Given the description of an element on the screen output the (x, y) to click on. 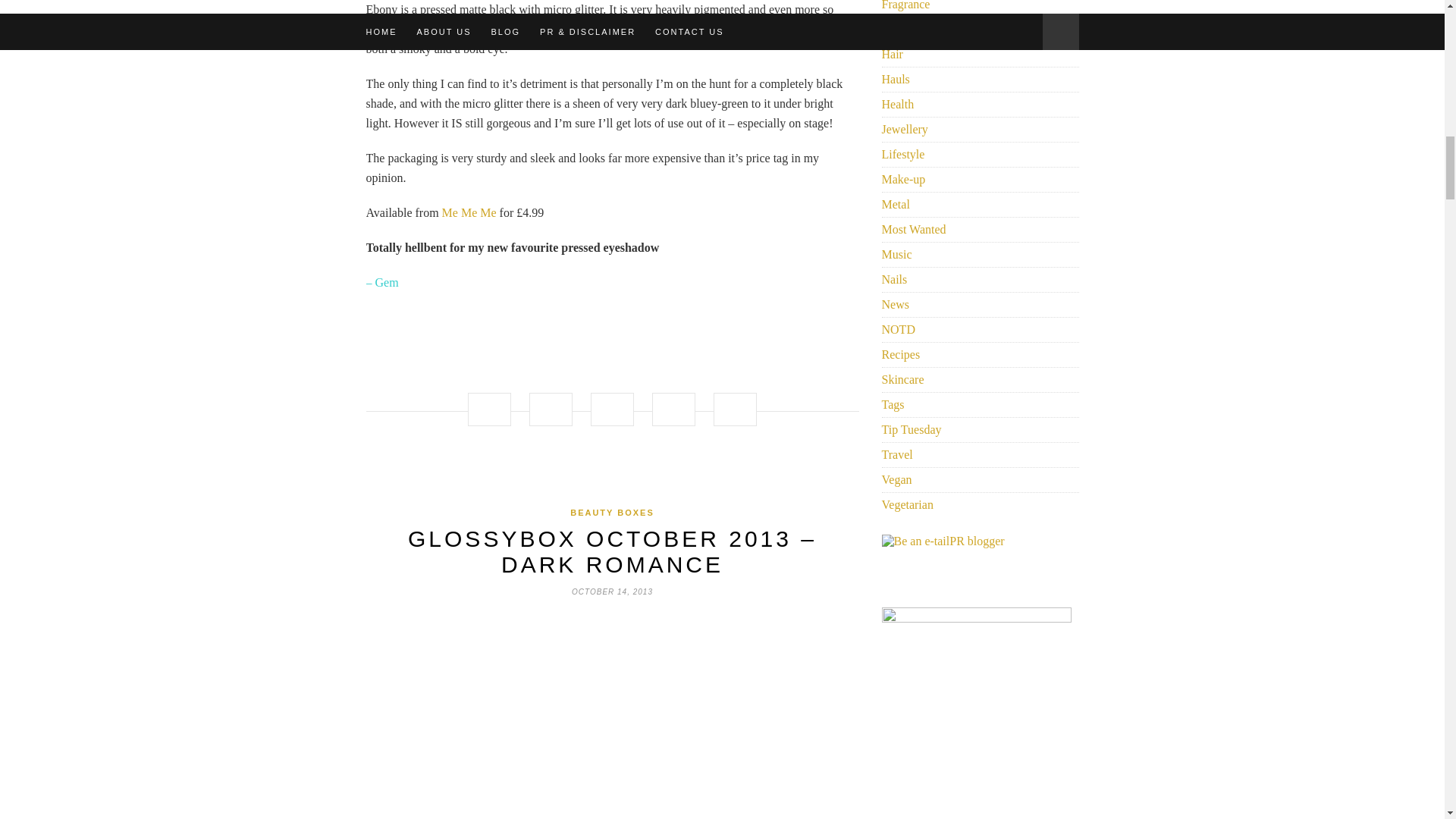
Me Me Me (469, 212)
View all posts in Beauty Boxes (611, 511)
BEAUTY BOXES (611, 511)
